Given the description of an element on the screen output the (x, y) to click on. 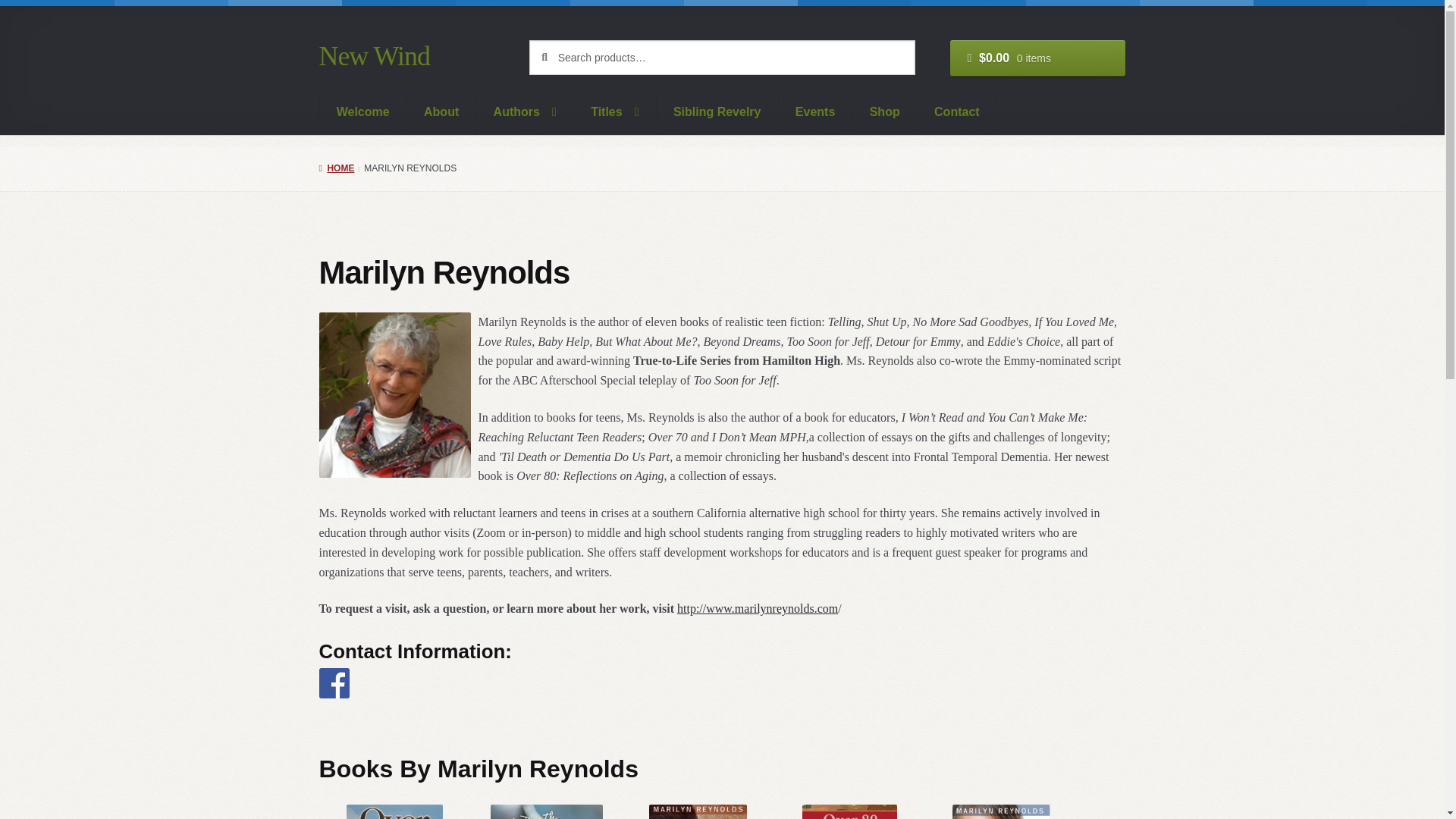
Titles (614, 112)
Shop (884, 112)
View your shopping cart (1037, 58)
Sibling Revelry (717, 112)
Welcome (362, 112)
About (442, 112)
New Wind (373, 55)
Authors (524, 112)
Events (815, 112)
Contact (957, 112)
